Given the description of an element on the screen output the (x, y) to click on. 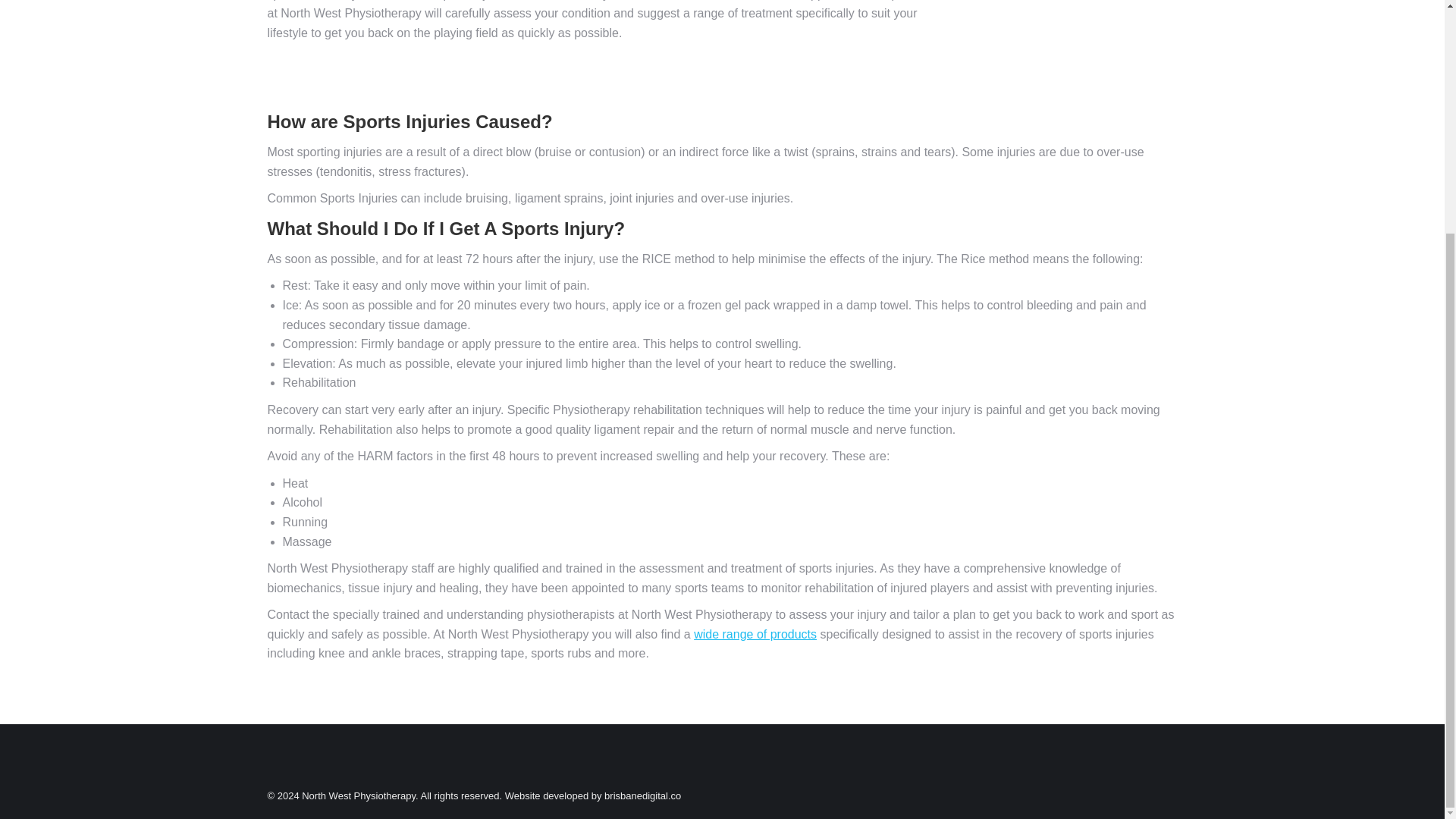
Products (755, 634)
